Given the description of an element on the screen output the (x, y) to click on. 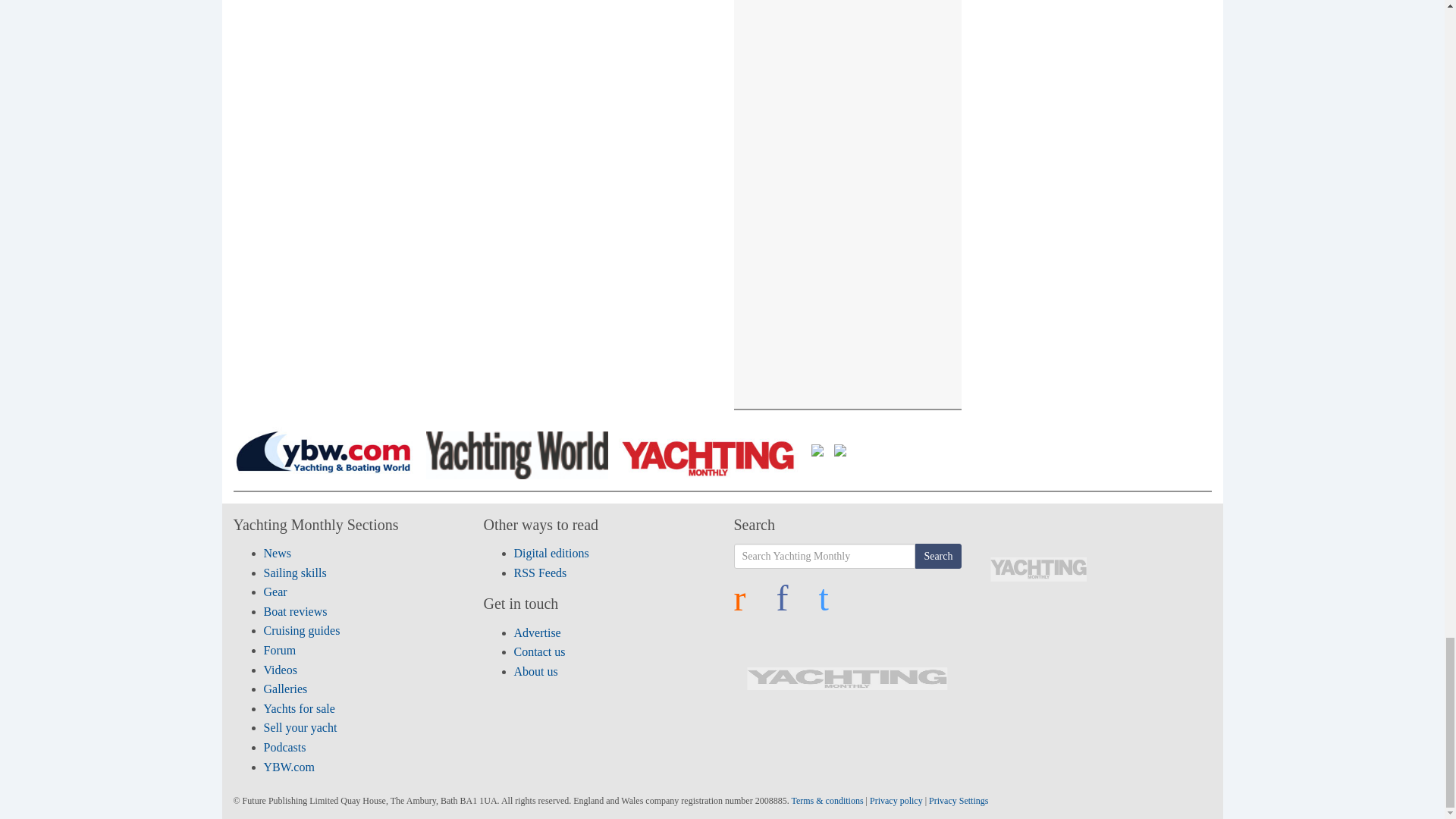
Latest Issue of Yachting Monthly (1038, 569)
